Given the description of an element on the screen output the (x, y) to click on. 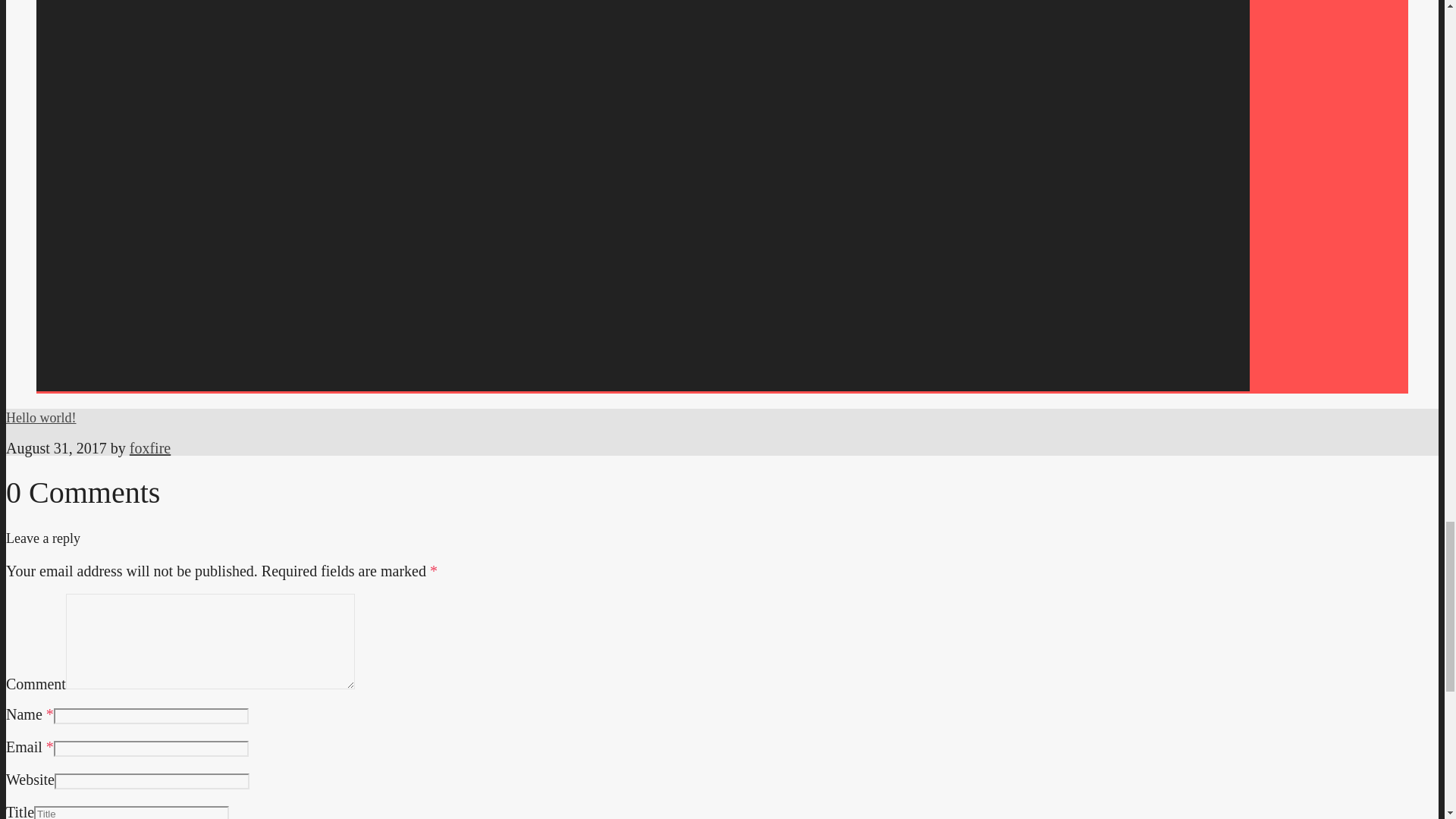
Hello world! (40, 417)
foxfire (149, 447)
